Given the description of an element on the screen output the (x, y) to click on. 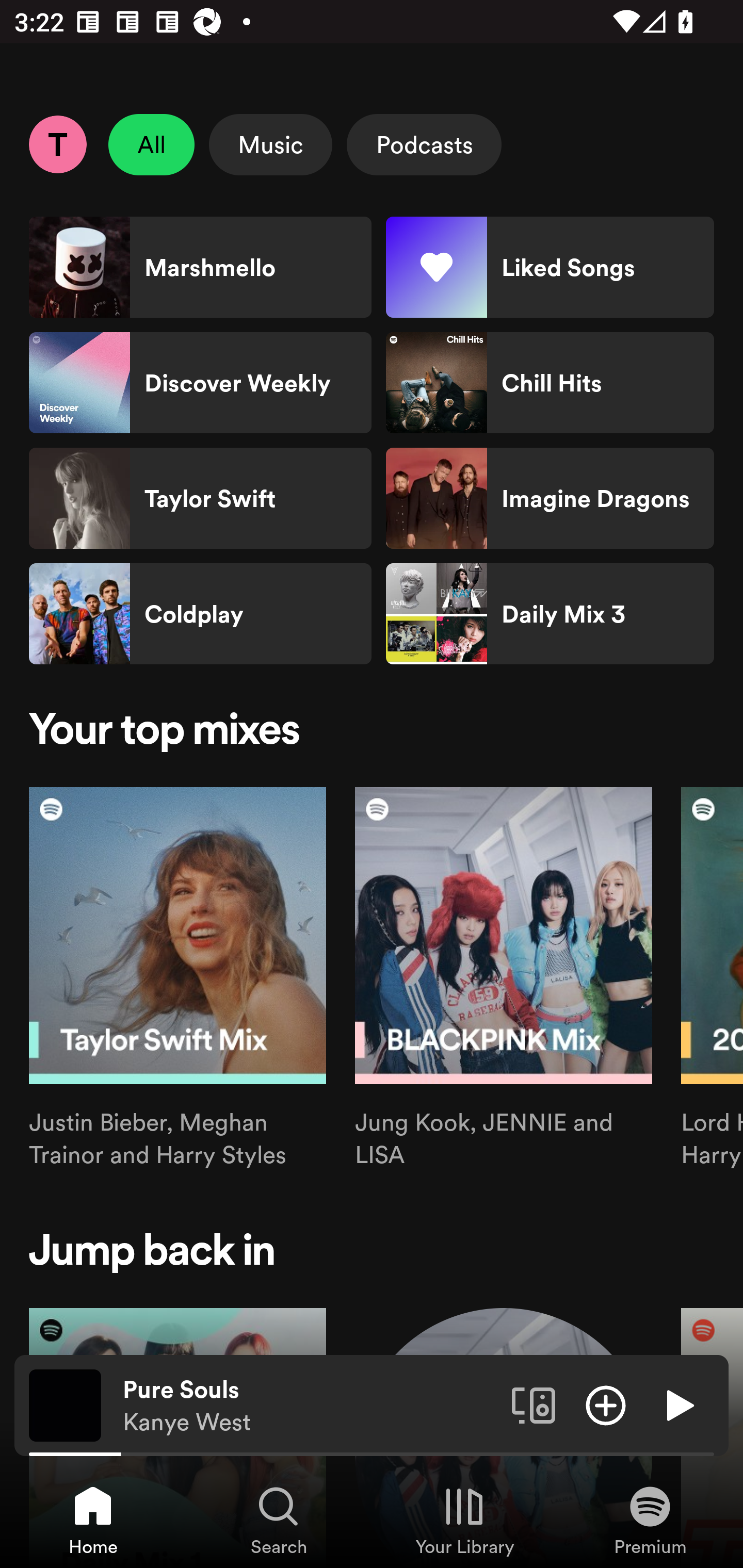
Profile (57, 144)
All Unselect All (151, 144)
Music Select Music (270, 144)
Podcasts Select Podcasts (423, 144)
Marshmello Shortcut Marshmello (199, 267)
Liked Songs Shortcut Liked Songs (549, 267)
Discover Weekly Shortcut Discover Weekly (199, 382)
Chill Hits Shortcut Chill Hits (549, 382)
Taylor Swift Shortcut Taylor Swift (199, 498)
Imagine Dragons Shortcut Imagine Dragons (549, 498)
Coldplay Shortcut Coldplay (199, 613)
Daily Mix 3 Shortcut Daily Mix 3 (549, 613)
Pure Souls Kanye West (309, 1405)
The cover art of the currently playing track (64, 1404)
Connect to a device. Opens the devices menu (533, 1404)
Add item (605, 1404)
Play (677, 1404)
